Given the description of an element on the screen output the (x, y) to click on. 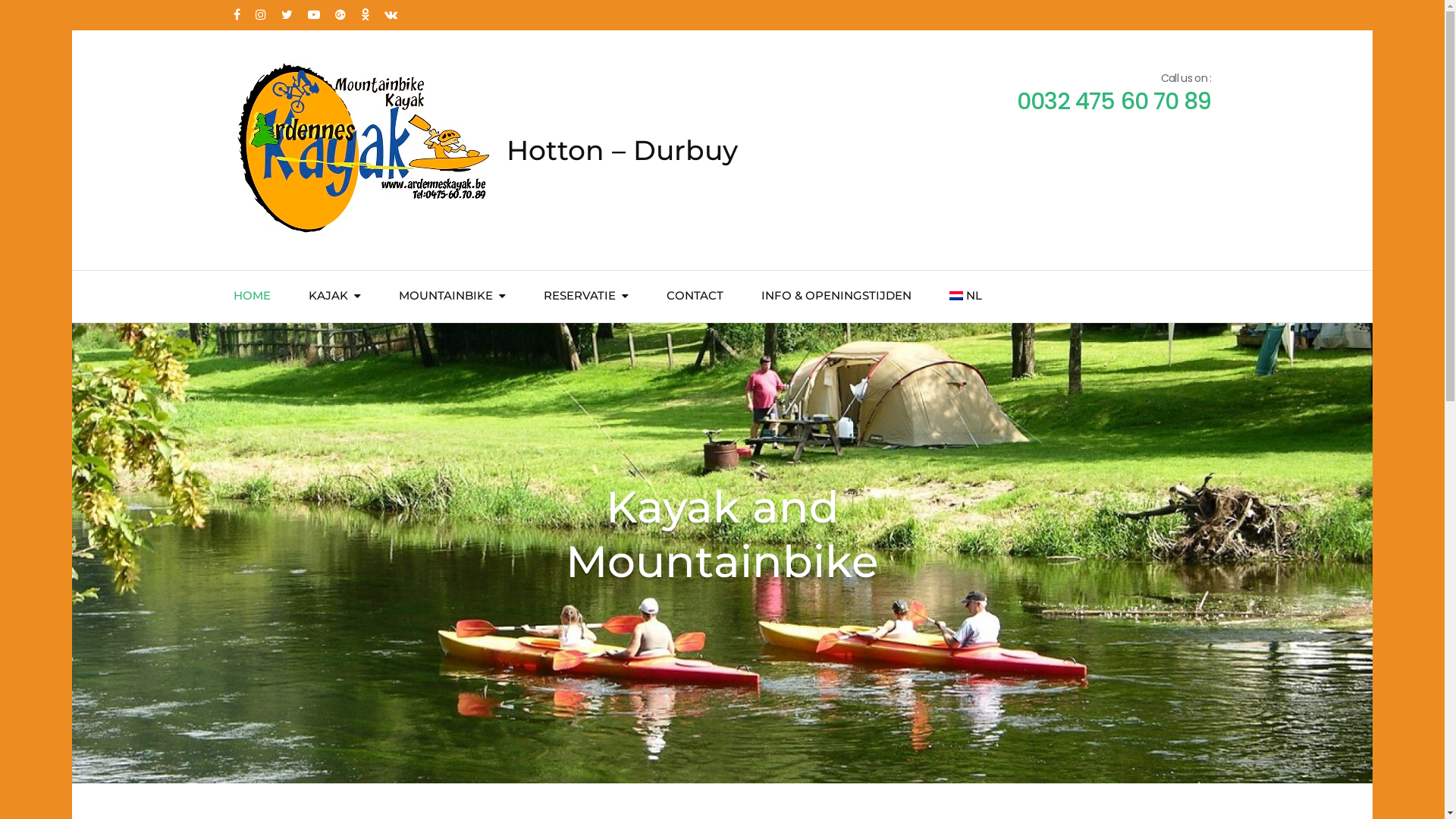
CONTACT Element type: text (693, 296)
KAJAK Element type: text (327, 296)
MOUNTAINBIKE Element type: text (445, 296)
0032 475 60 70 89 Element type: text (1113, 101)
NL Element type: text (965, 296)
INFO & OPENINGSTIJDEN Element type: text (836, 296)
RESERVATIE Element type: text (578, 296)
HOME Element type: text (251, 296)
